Given the description of an element on the screen output the (x, y) to click on. 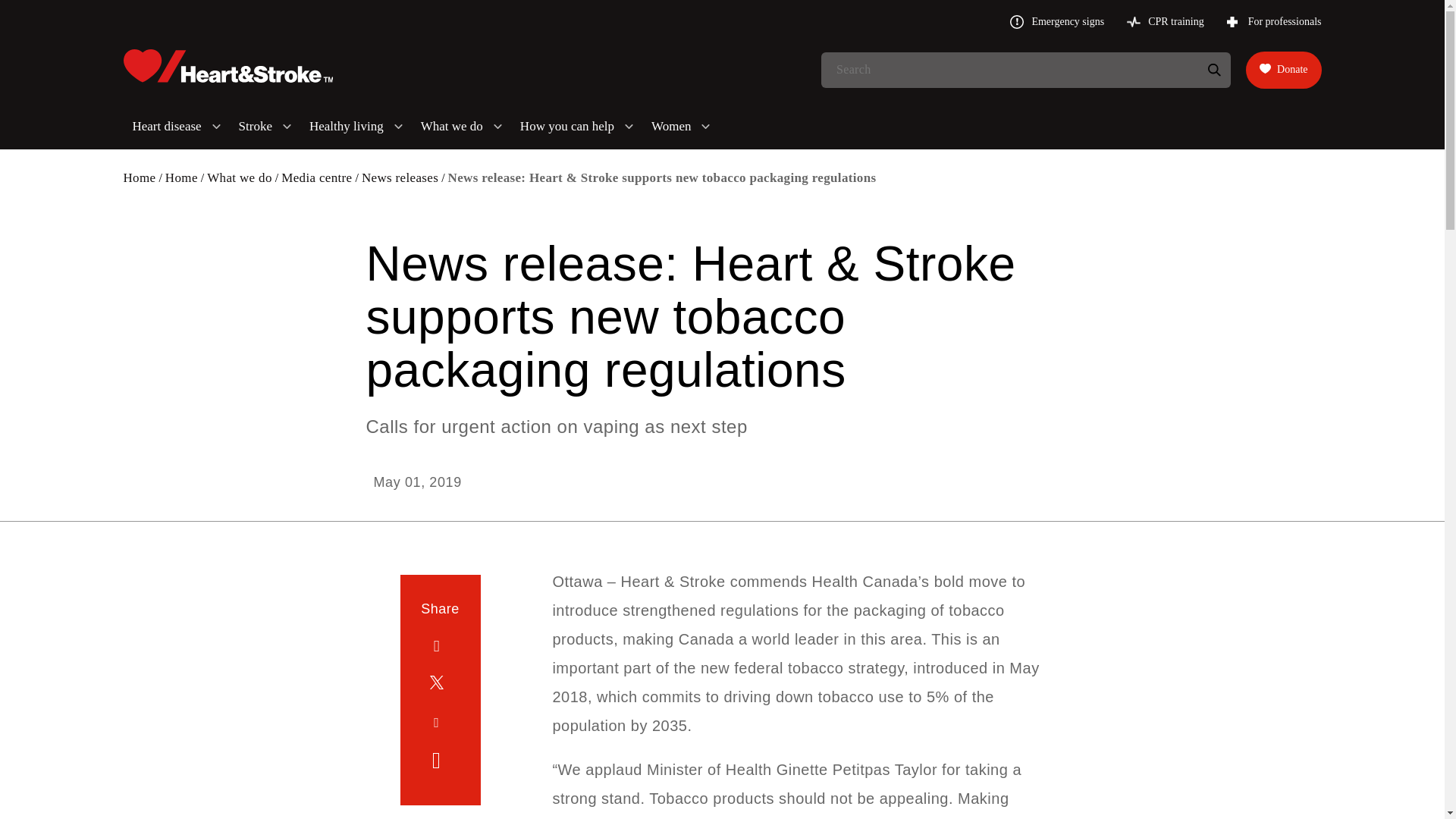
Search (1213, 69)
Twitter (440, 684)
CPR training (1165, 22)
For professionals (1274, 22)
Heart disease (175, 126)
Stroke (264, 126)
Emergency signs (1056, 21)
Print (440, 761)
Email (440, 722)
